Given the description of an element on the screen output the (x, y) to click on. 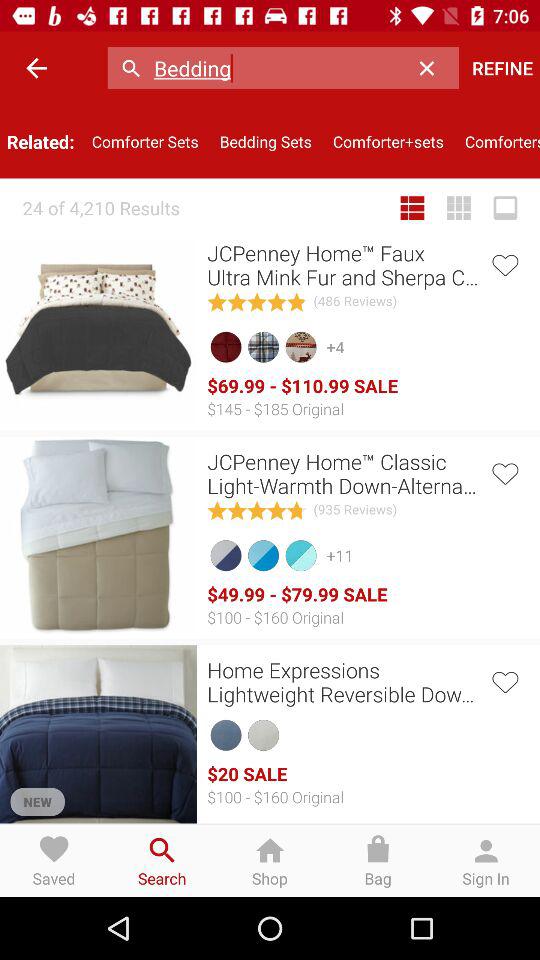
give your like (504, 680)
